Given the description of an element on the screen output the (x, y) to click on. 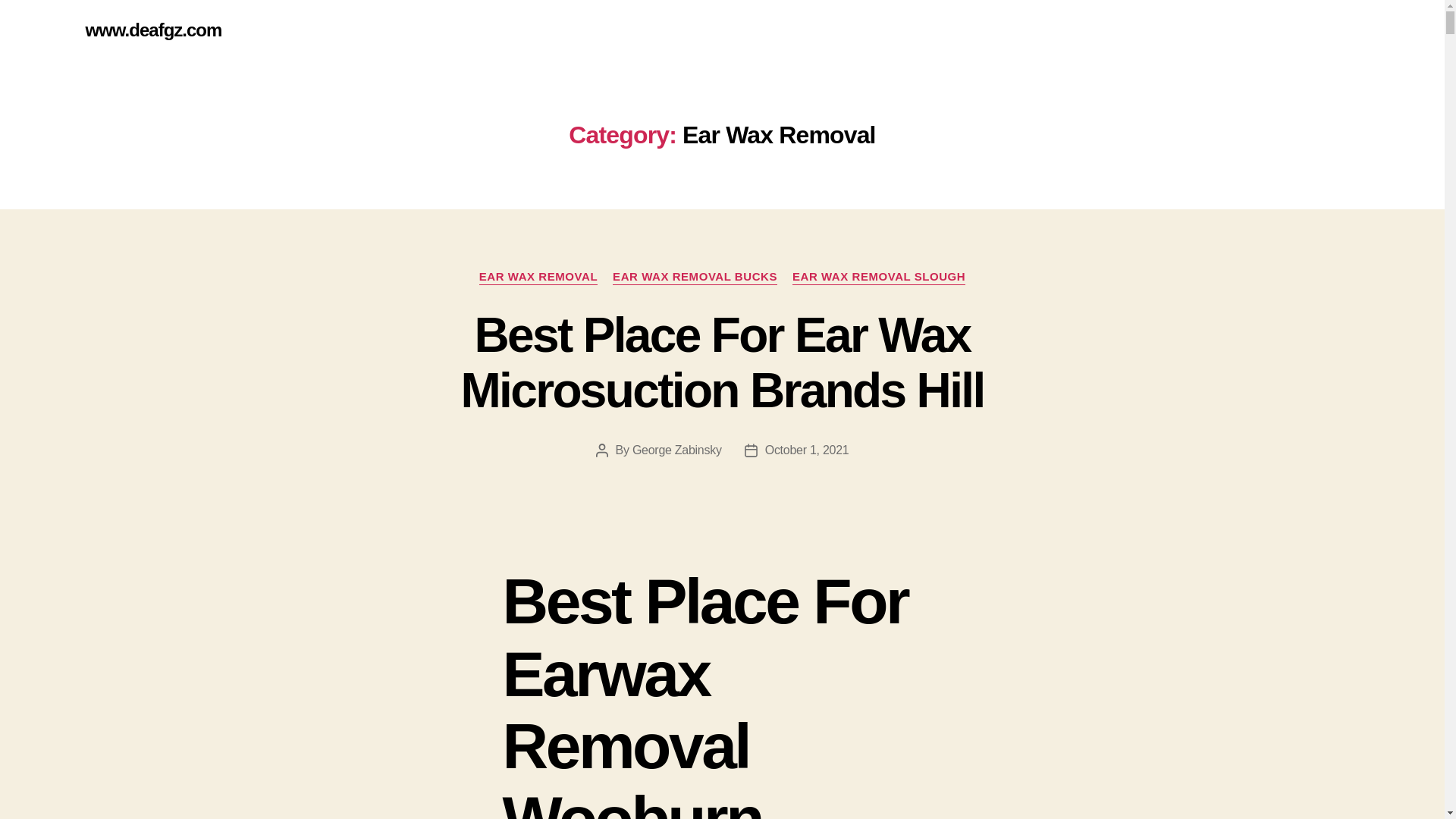
Best Place For Ear Wax Microsuction Brands Hill (722, 362)
October 1, 2021 (806, 449)
www.deafgz.com (152, 30)
EAR WAX REMOVAL BUCKS (694, 277)
George Zabinsky (676, 449)
EAR WAX REMOVAL (537, 277)
EAR WAX REMOVAL SLOUGH (878, 277)
